Given the description of an element on the screen output the (x, y) to click on. 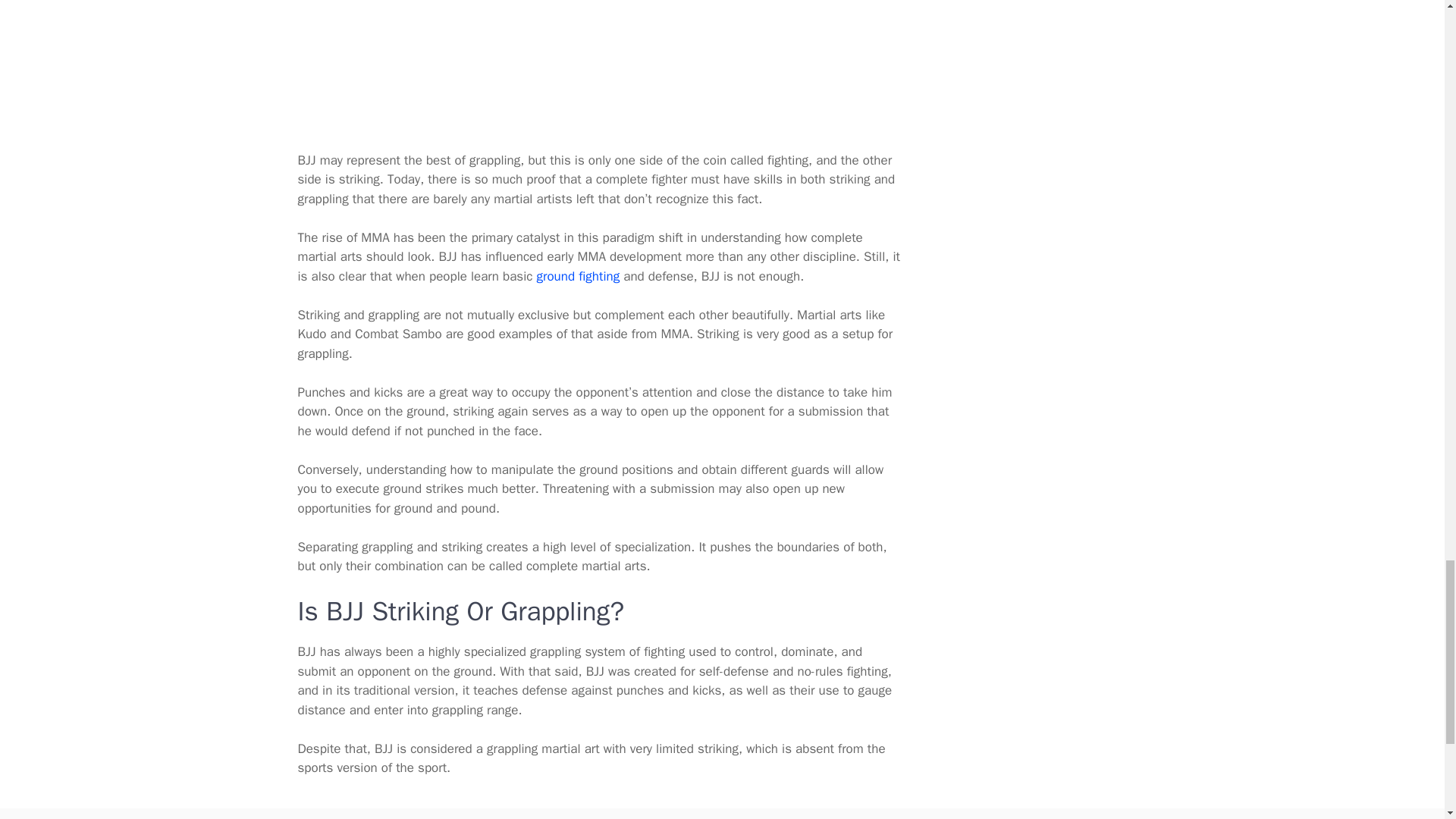
ground fighting (578, 276)
